Given the description of an element on the screen output the (x, y) to click on. 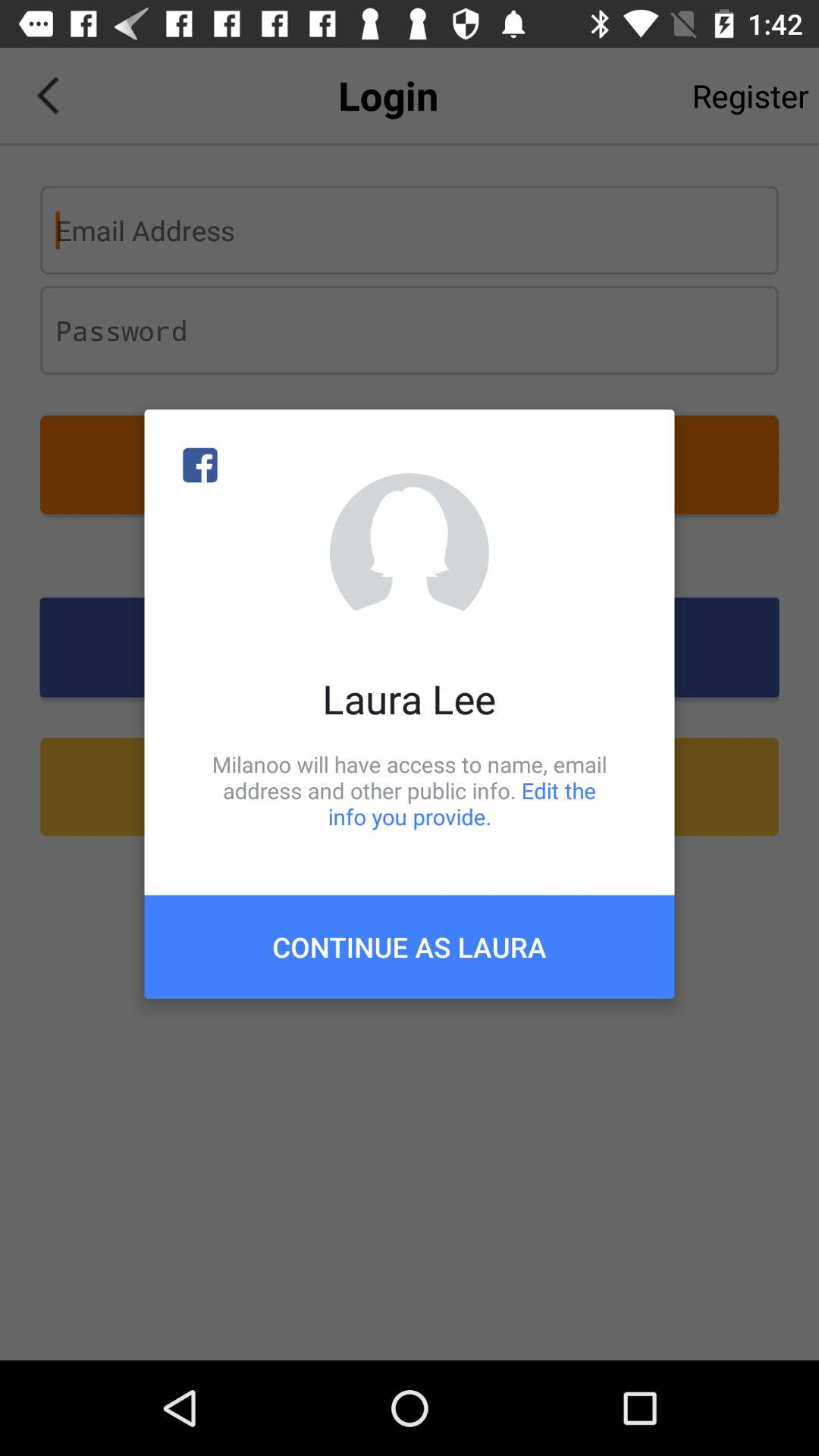
launch icon below laura lee (409, 790)
